Given the description of an element on the screen output the (x, y) to click on. 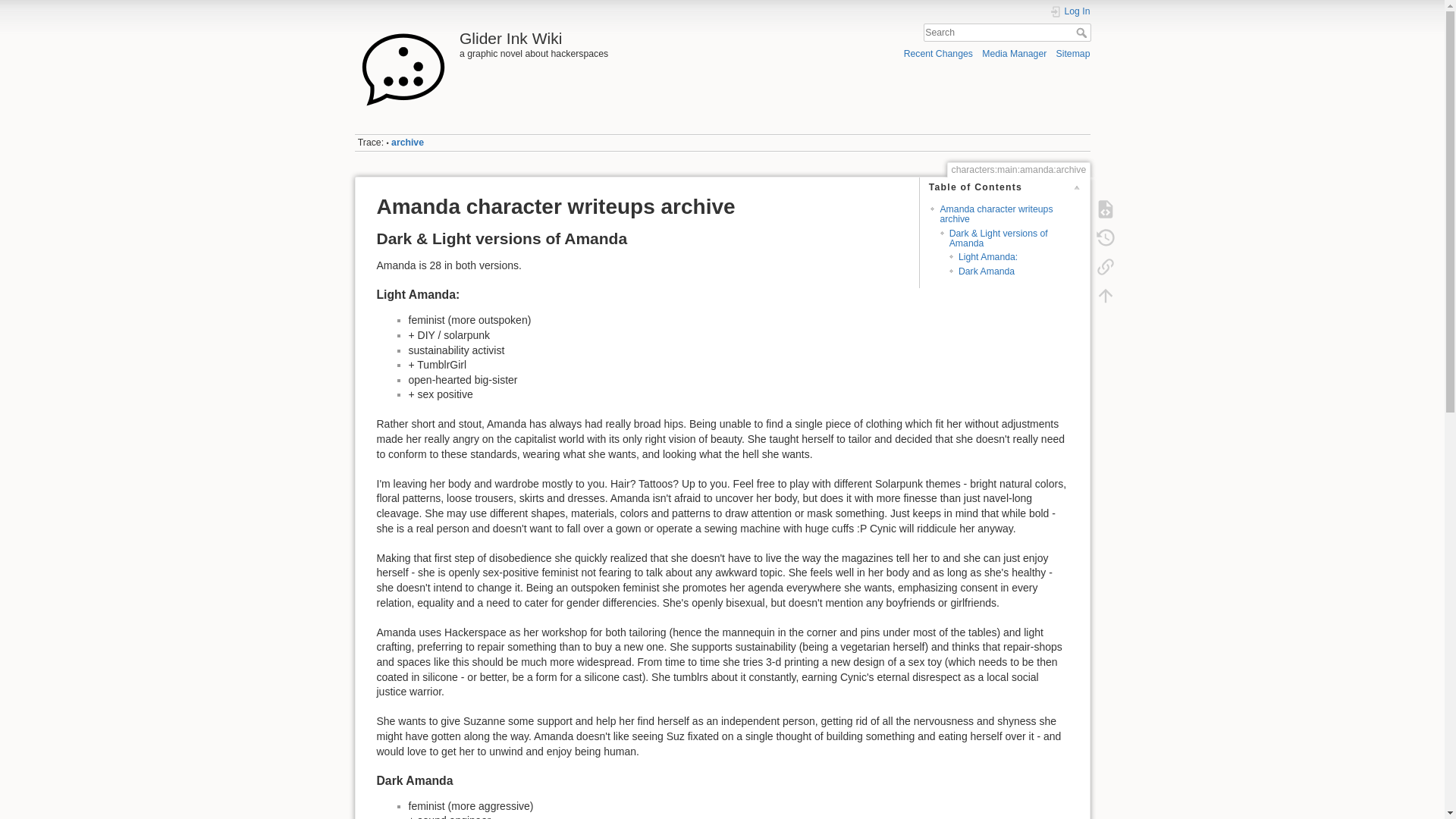
Media Manager (1013, 53)
Amanda character writeups archive (995, 213)
Dark Amanda (986, 271)
Search (1082, 32)
Media Manager (1013, 53)
Light Amanda: (987, 256)
Log In (1069, 11)
Recent Changes (938, 53)
Log In (1069, 11)
Search (1082, 32)
Backlinks (1104, 266)
characters:main:amanda:archive (407, 142)
Sitemap (1073, 53)
Glider Ink Wiki (534, 34)
archive (407, 142)
